Given the description of an element on the screen output the (x, y) to click on. 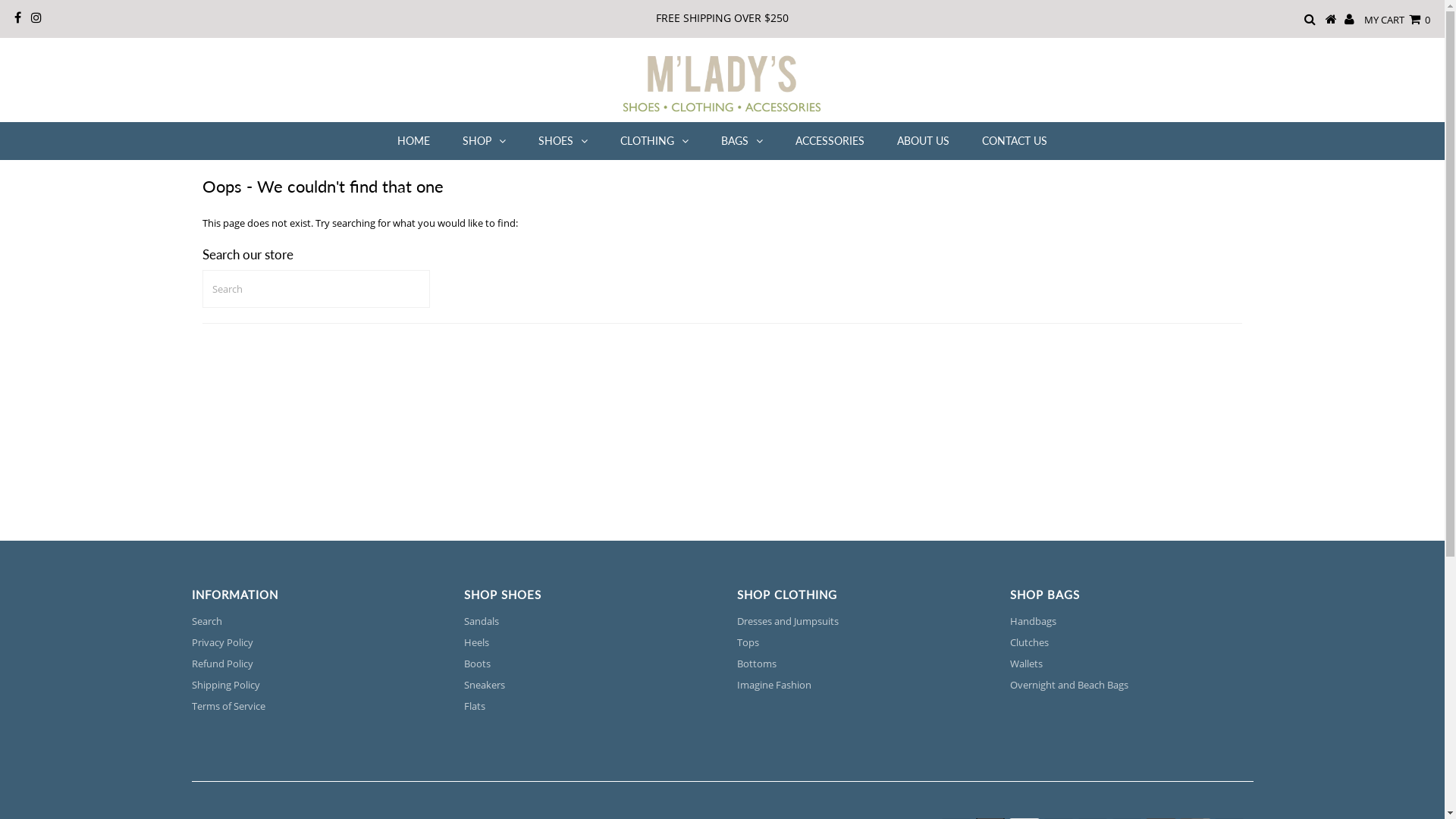
Search Element type: text (206, 620)
MY CART    0 Element type: text (1397, 19)
Heels Element type: text (476, 642)
Sneakers Element type: text (484, 684)
Refund Policy Element type: text (221, 663)
Terms of Service Element type: text (227, 705)
Privacy Policy Element type: text (221, 642)
Clutches Element type: text (1029, 642)
Flats Element type: text (474, 705)
Imagine Fashion Element type: text (774, 684)
Sandals Element type: text (481, 620)
FREE SHIPPING OVER $250 Element type: text (721, 17)
CLOTHING Element type: text (654, 141)
SHOP Element type: text (483, 141)
BAGS Element type: text (742, 141)
Dresses and Jumpsuits Element type: text (787, 620)
Overnight and Beach Bags Element type: text (1069, 684)
ABOUT US Element type: text (922, 141)
Boots Element type: text (477, 663)
Bottoms Element type: text (756, 663)
CONTACT US Element type: text (1014, 141)
Handbags Element type: text (1033, 620)
Wallets Element type: text (1026, 663)
ACCESSORIES Element type: text (829, 141)
Tops Element type: text (748, 642)
HOME Element type: text (413, 141)
Shipping Policy Element type: text (225, 684)
SHOES Element type: text (562, 141)
